Given the description of an element on the screen output the (x, y) to click on. 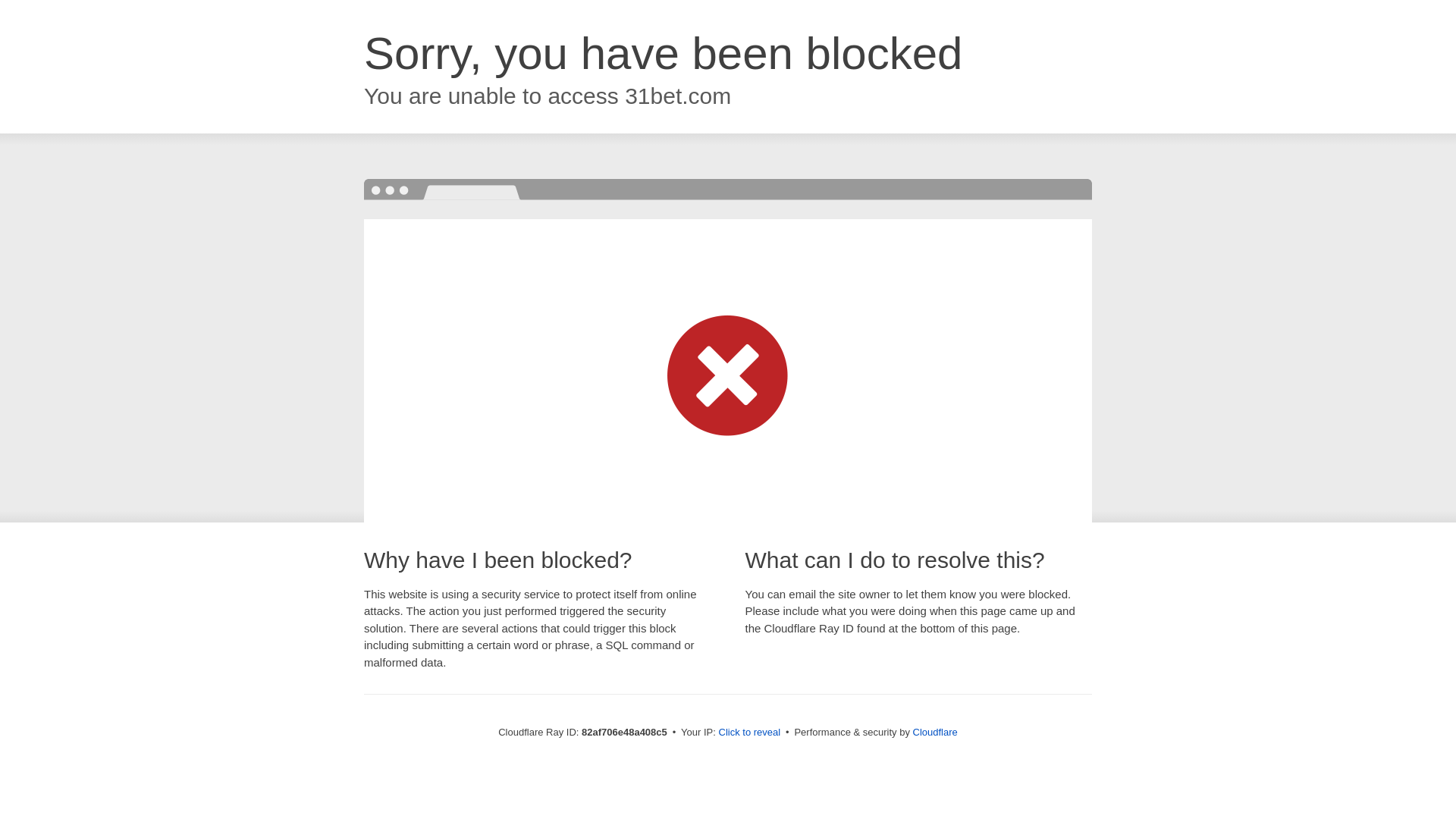
Click to reveal Element type: text (749, 732)
Cloudflare Element type: text (935, 731)
